Given the description of an element on the screen output the (x, y) to click on. 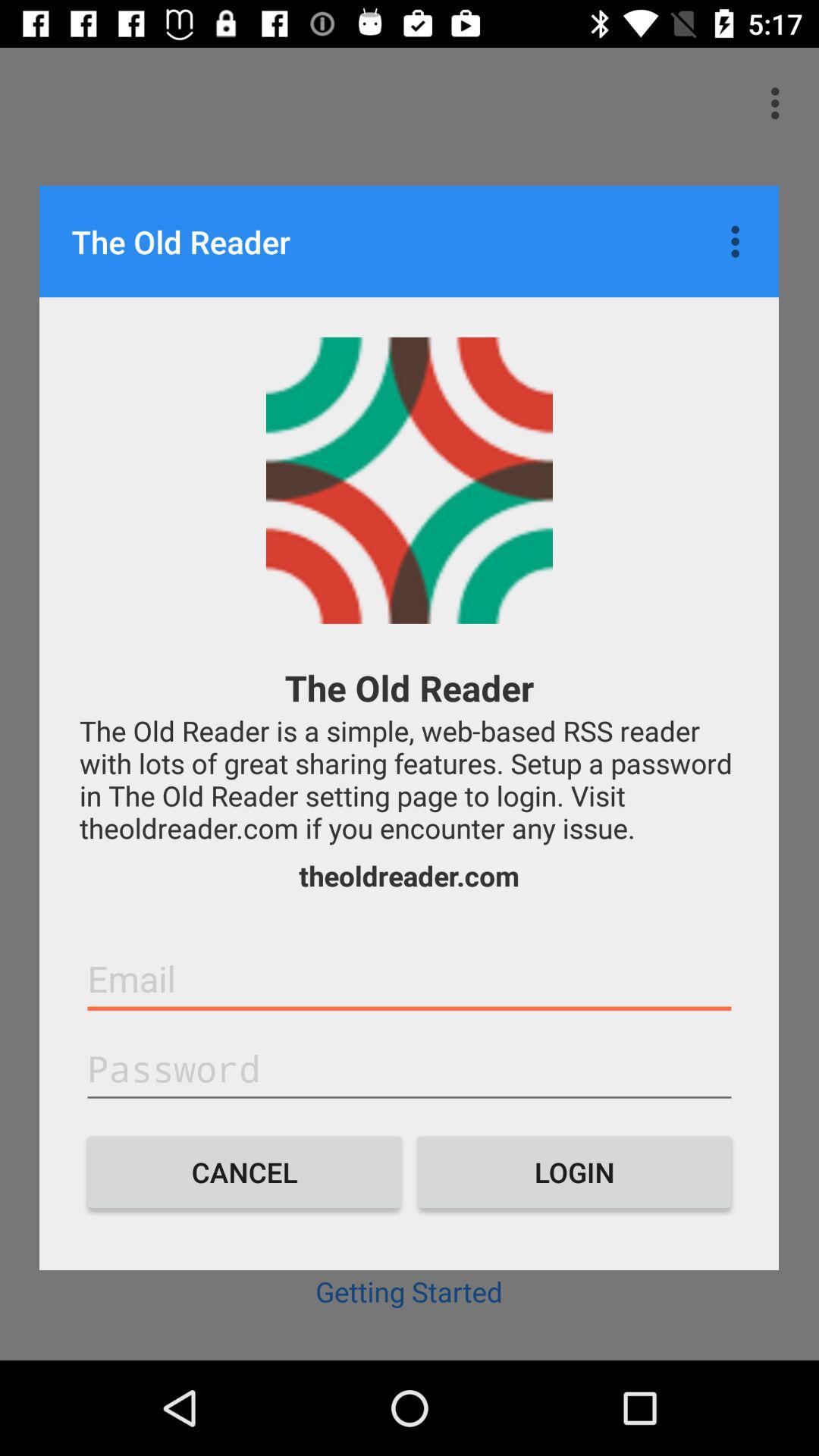
insert email field (409, 979)
